Given the description of an element on the screen output the (x, y) to click on. 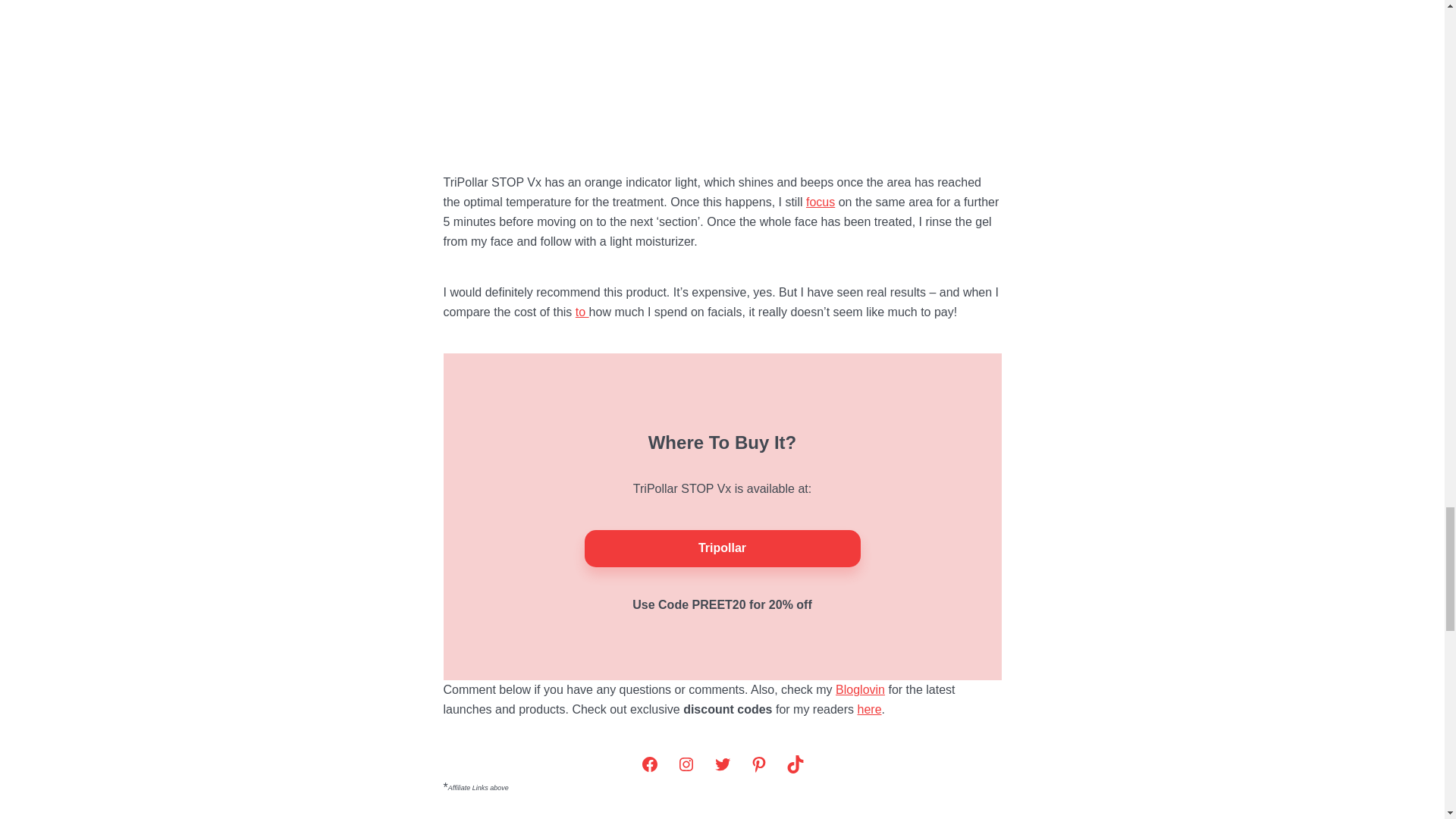
Bloglovin (860, 689)
to (582, 311)
Twitter (721, 764)
here (869, 708)
focus (820, 201)
Instagram (684, 764)
Facebook (648, 764)
Pinterest (757, 764)
Tripollar (721, 548)
TikTok (794, 764)
